Given the description of an element on the screen output the (x, y) to click on. 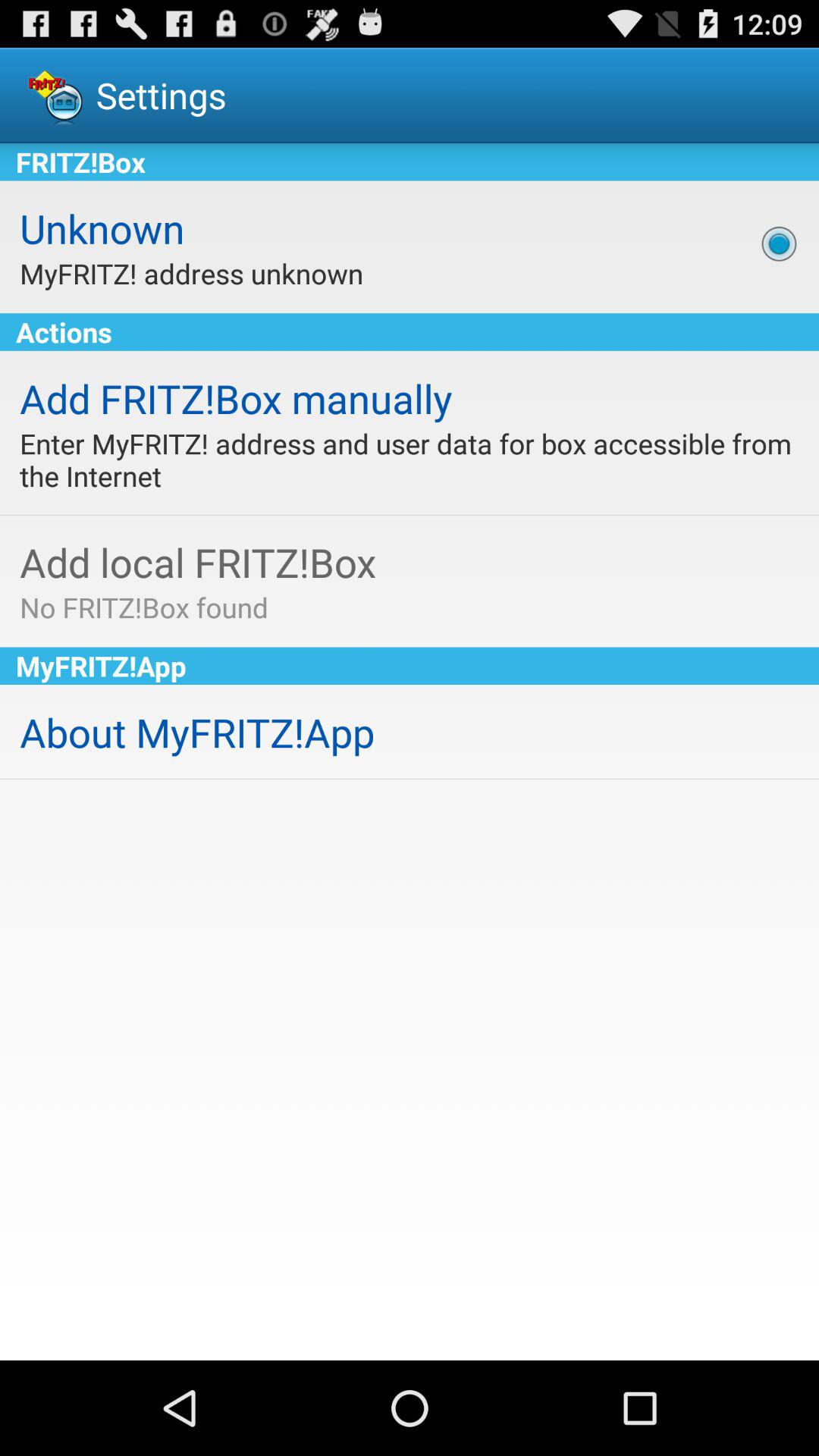
tap the icon to the right of unknown item (779, 243)
